Given the description of an element on the screen output the (x, y) to click on. 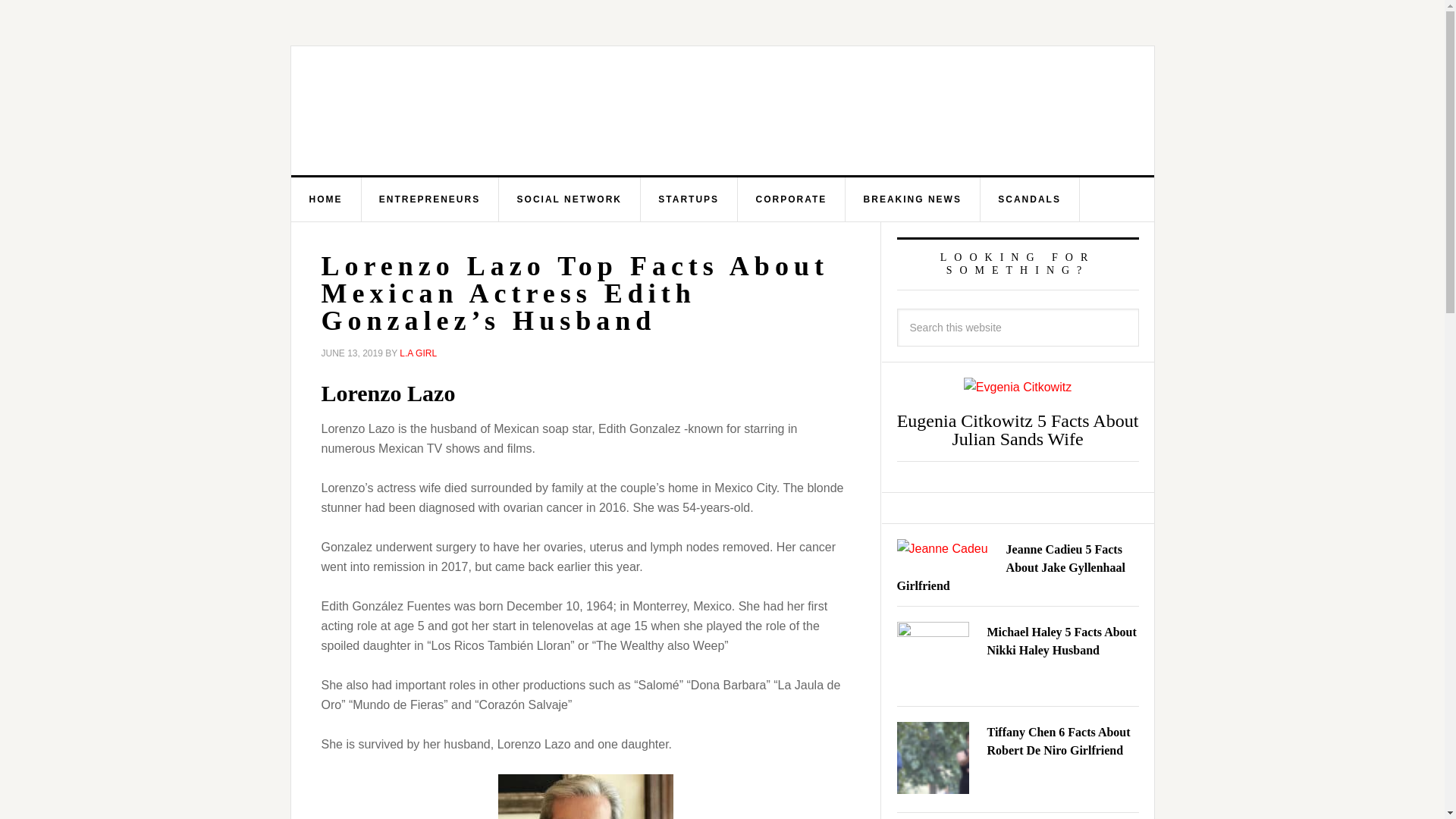
STARTUPS (689, 199)
Eugenia Citkowitz 5 Facts About Julian Sands Wife (1017, 429)
Michael Haley 5 Facts About Nikki Haley Husband (1062, 640)
CORPORATE (790, 199)
L.A GIRL (417, 353)
Tiffany Chen 6 Facts About Robert De Niro Girlfriend (1059, 740)
ENTREPRENEURS (430, 199)
Jeanne Cadieu 5 Facts About Jake Gyllenhaal Girlfriend (1010, 567)
BREAKING NEWS (912, 199)
HOME (326, 199)
SOCIAL NETWORK (569, 199)
SCANDALS (1029, 199)
